Given the description of an element on the screen output the (x, y) to click on. 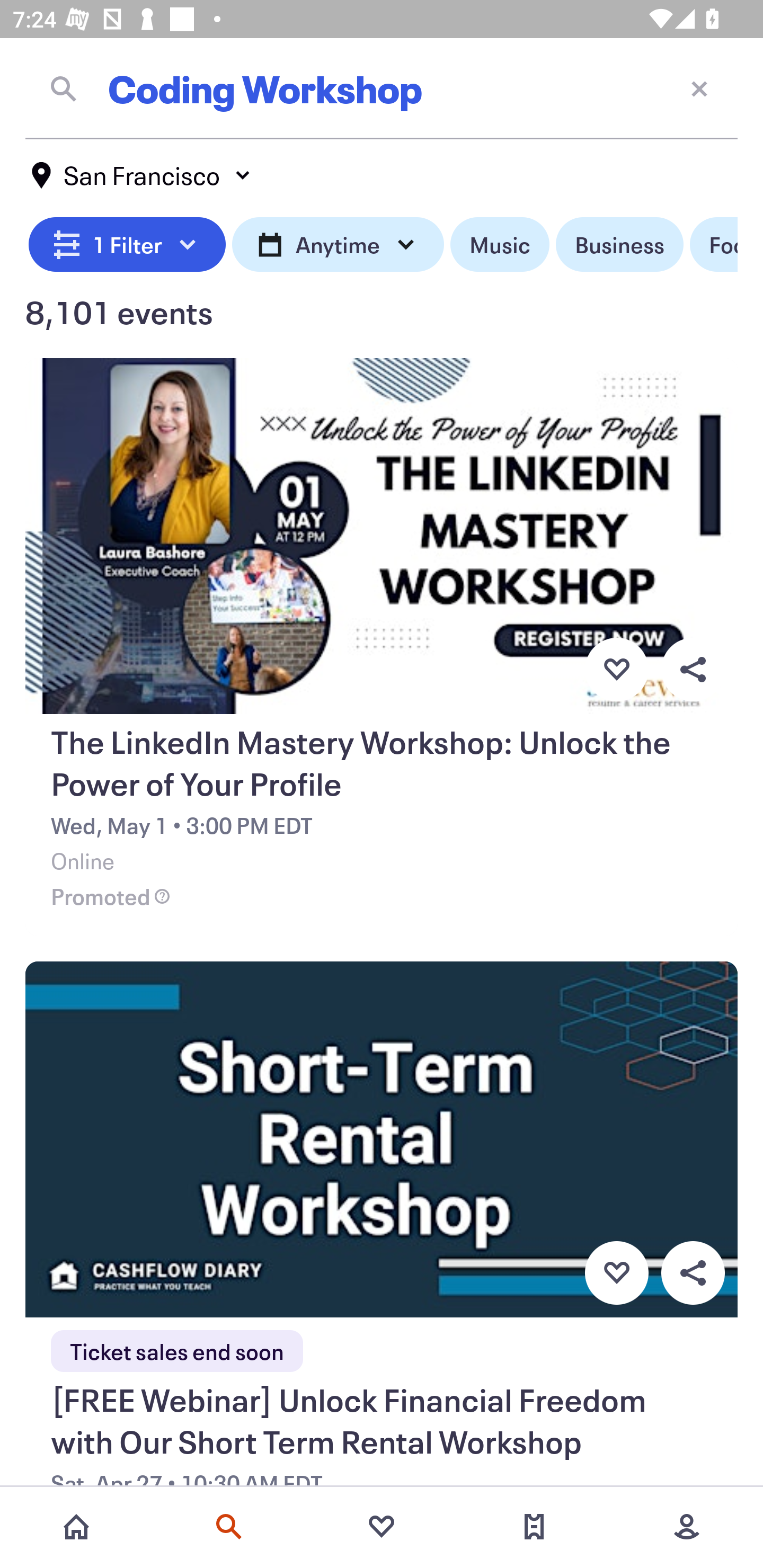
Coding Workshop Close current screen (381, 88)
Close current screen (699, 88)
San Francisco (141, 175)
1 Filter (126, 244)
Anytime (337, 244)
Music (499, 244)
Business (619, 244)
Favorite button (616, 669)
Overflow menu button (692, 669)
Favorite button (616, 1272)
Overflow menu button (692, 1272)
Home (76, 1526)
Search events (228, 1526)
Favorites (381, 1526)
Tickets (533, 1526)
More (686, 1526)
